Given the description of an element on the screen output the (x, y) to click on. 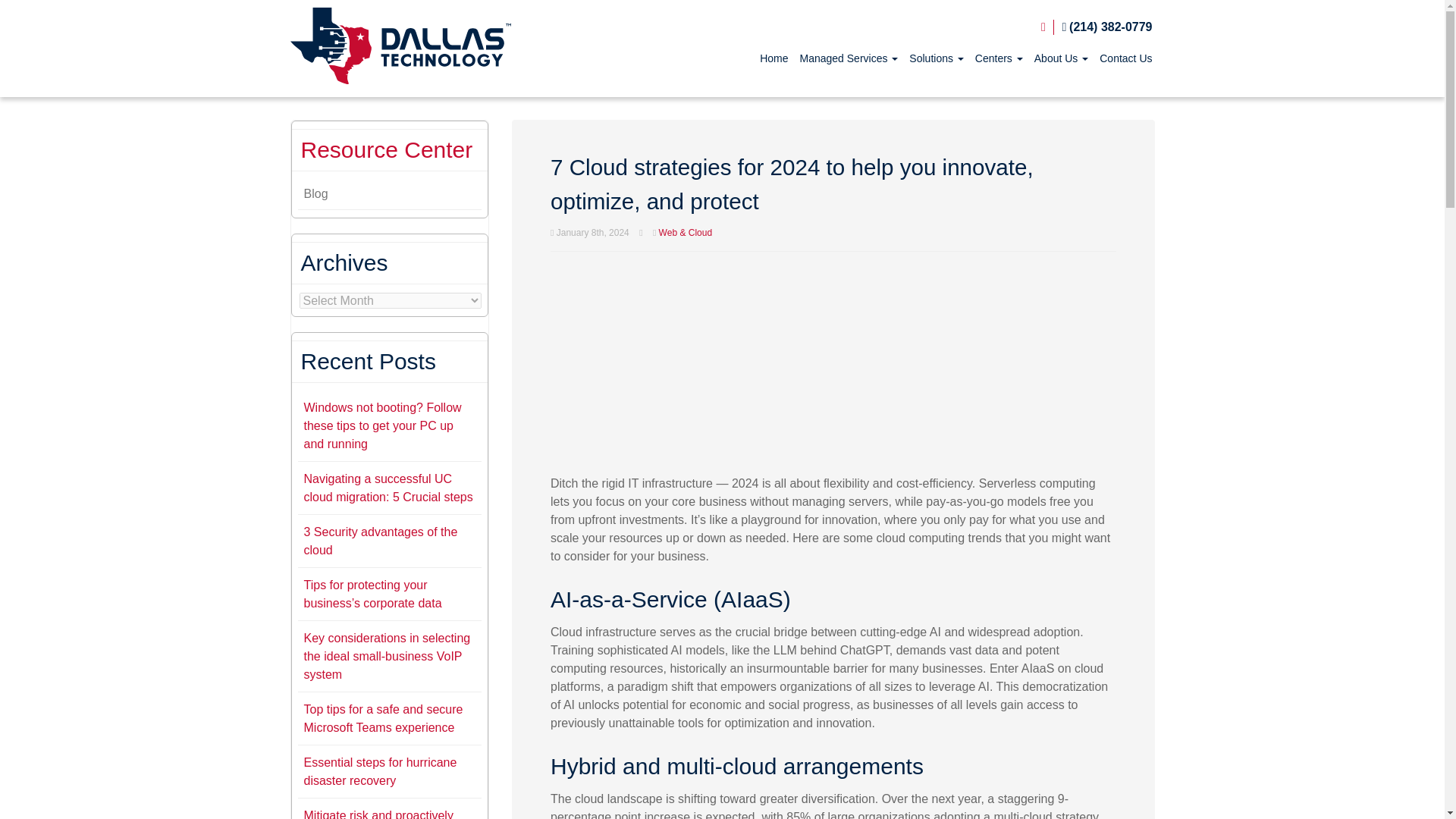
Solutions (935, 58)
Centers (999, 58)
Home (773, 58)
Managed Services (848, 58)
About Us (1060, 58)
Contact Us (1125, 58)
